Given the description of an element on the screen output the (x, y) to click on. 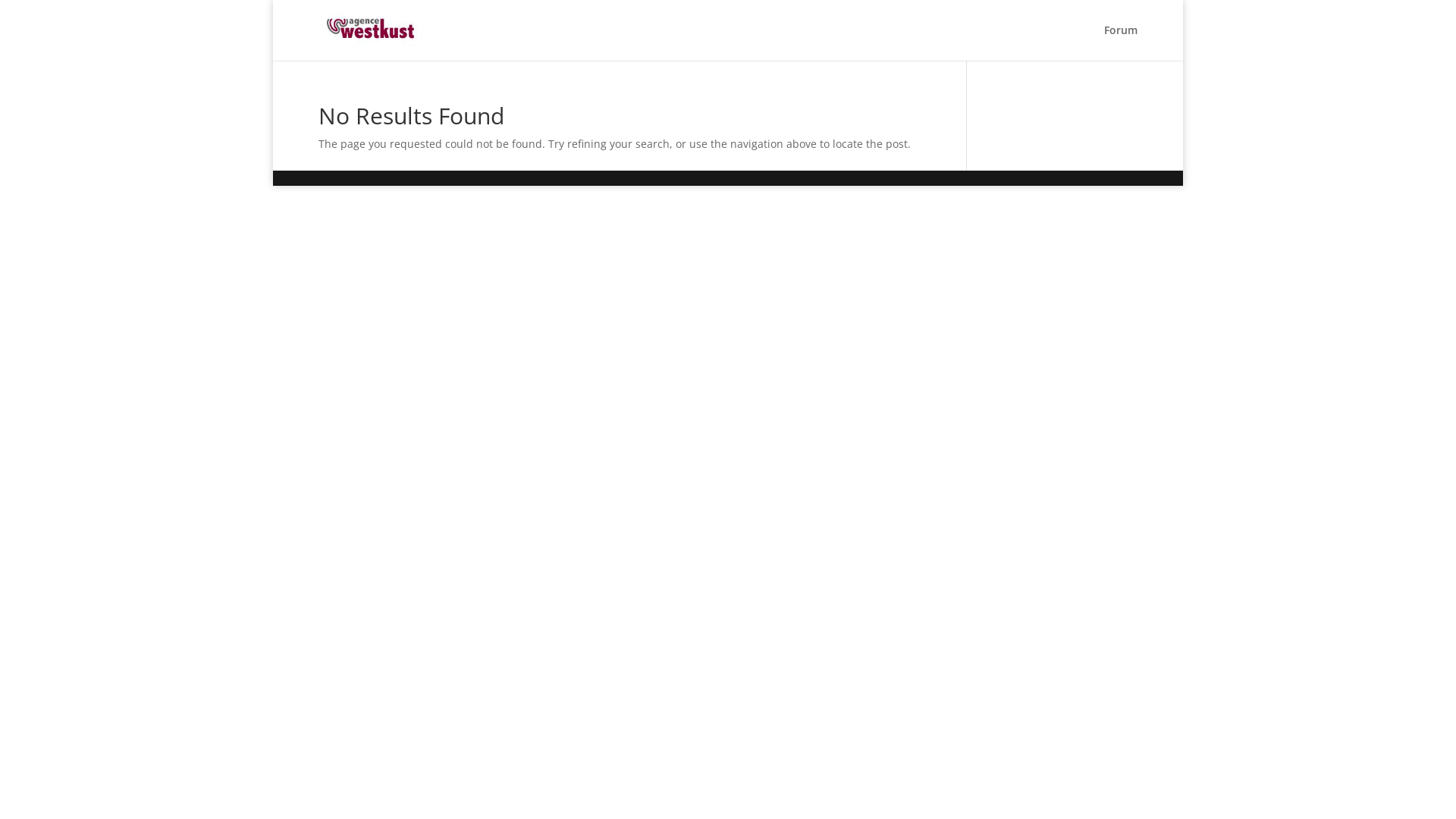
Forum Element type: text (1120, 42)
